Given the description of an element on the screen output the (x, y) to click on. 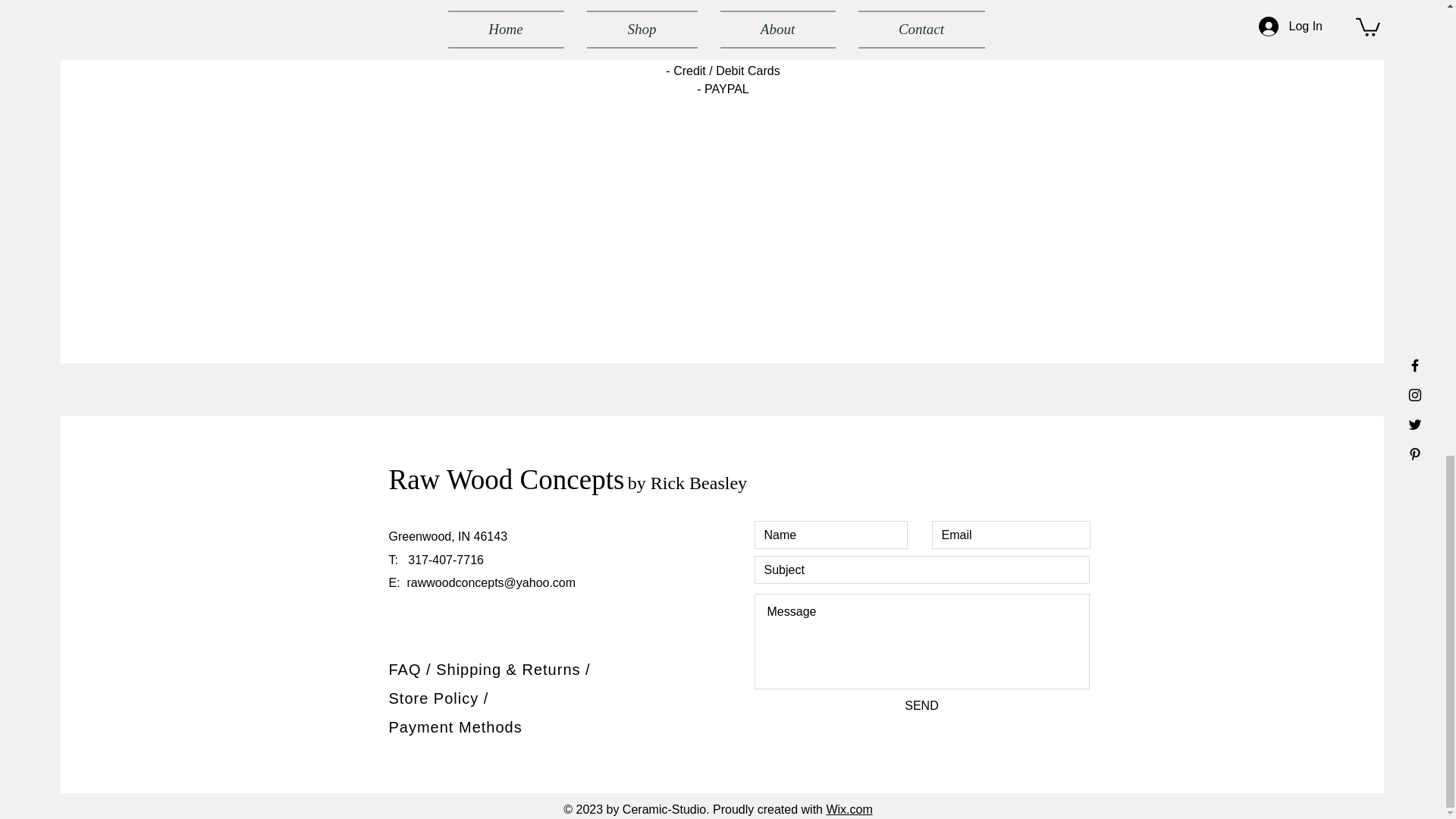
SEND (921, 705)
Payment Methods (454, 727)
Store Policy  (435, 698)
Wix.com (848, 809)
